Given the description of an element on the screen output the (x, y) to click on. 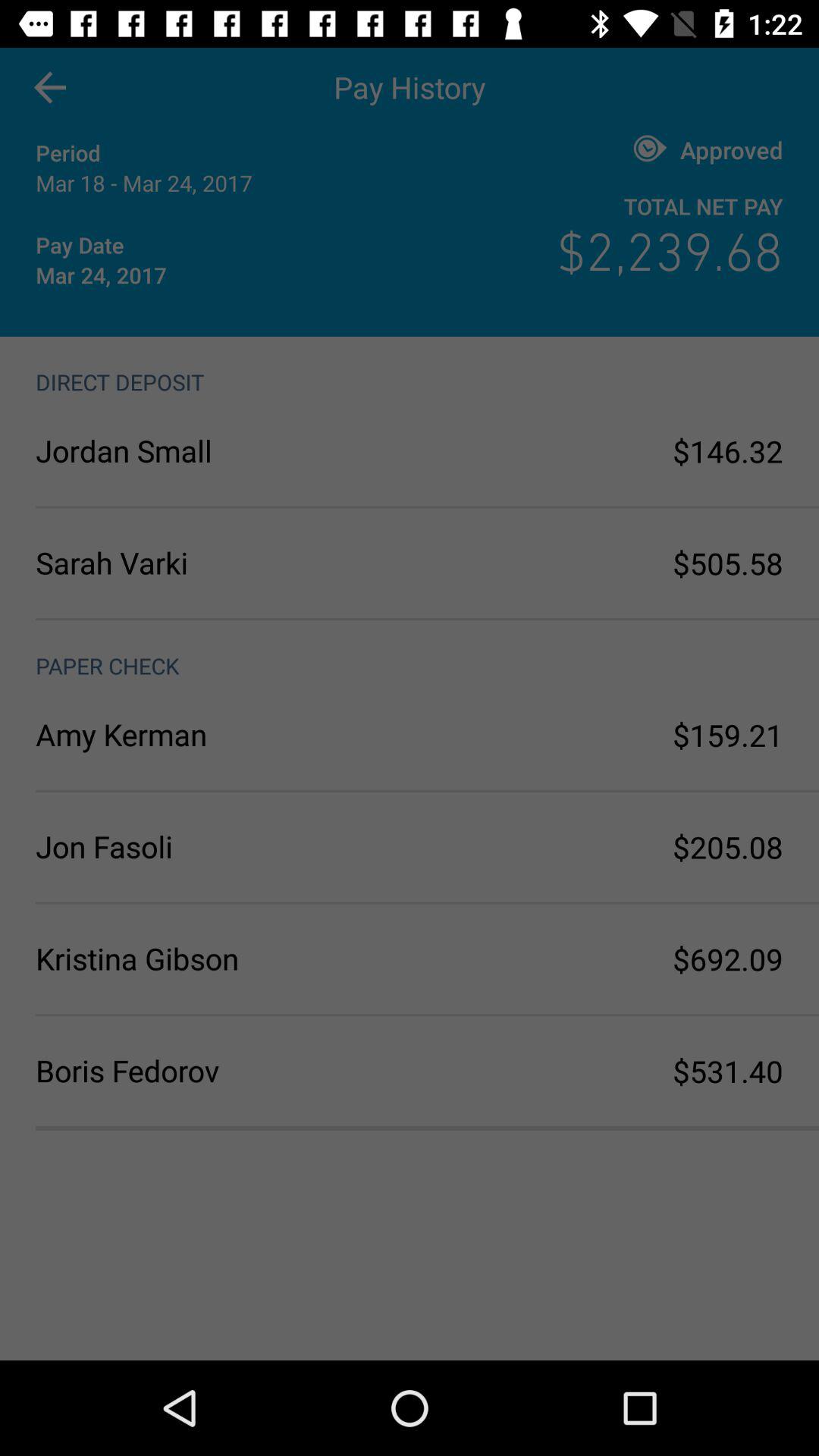
choose the item next to $159.21 (222, 734)
